Given the description of an element on the screen output the (x, y) to click on. 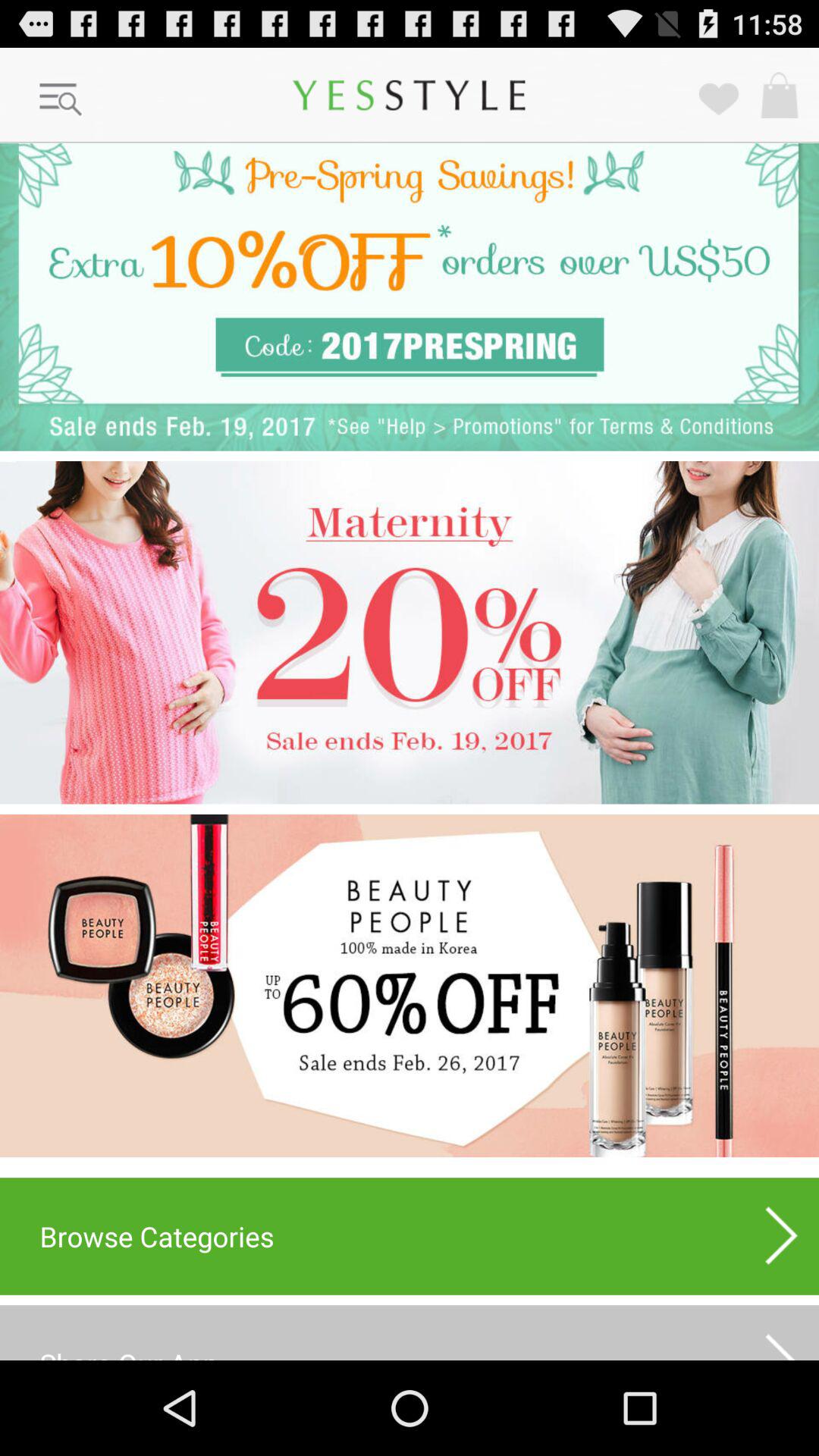
go to advertisement 's page (409, 297)
